Given the description of an element on the screen output the (x, y) to click on. 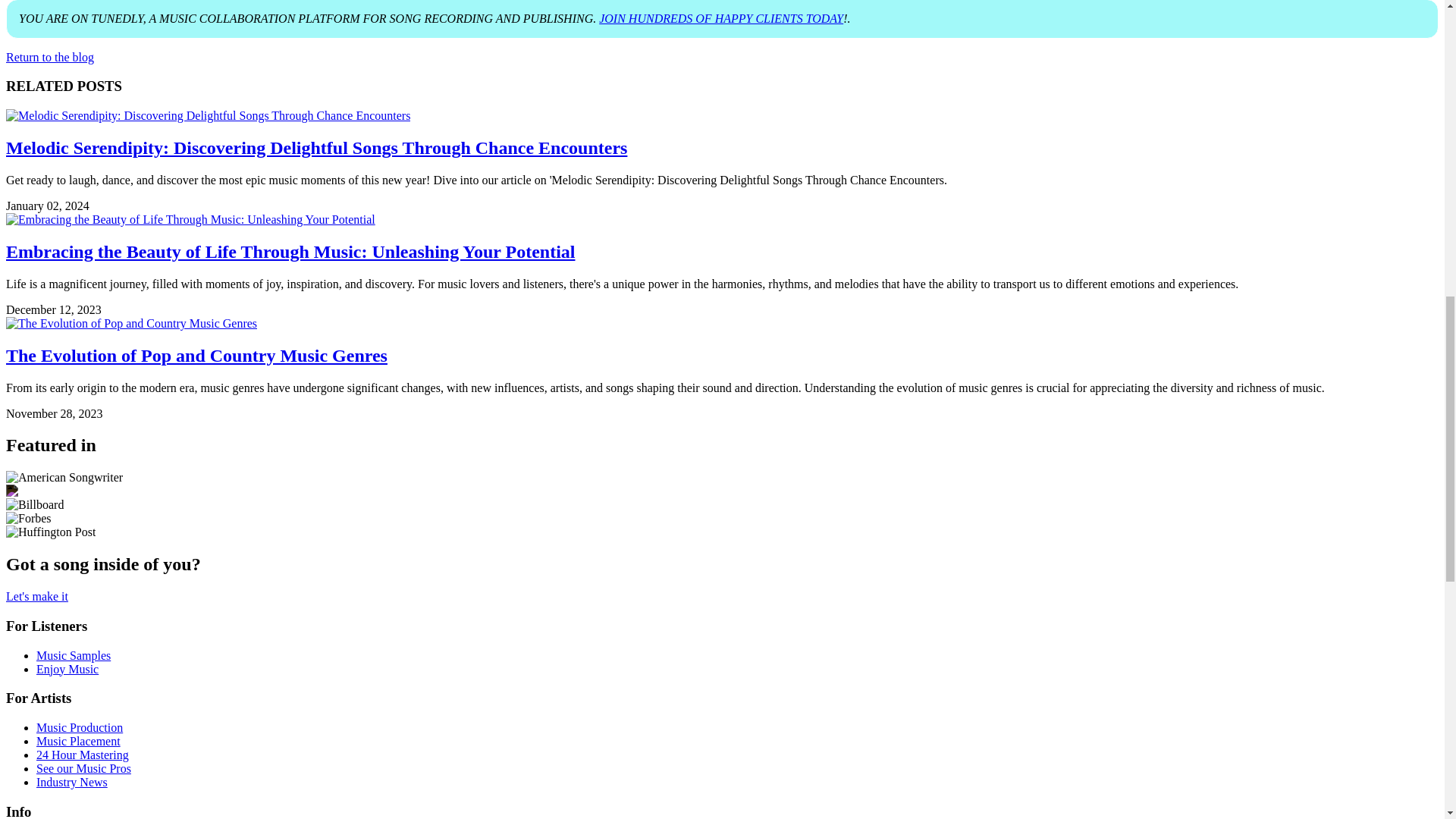
Return to the blog (49, 56)
JOIN HUNDREDS OF HAPPY CLIENTS TODAY (720, 18)
Music Samples (73, 655)
Let's make it (36, 595)
The Evolution of Pop and Country Music Genres (196, 355)
